Given the description of an element on the screen output the (x, y) to click on. 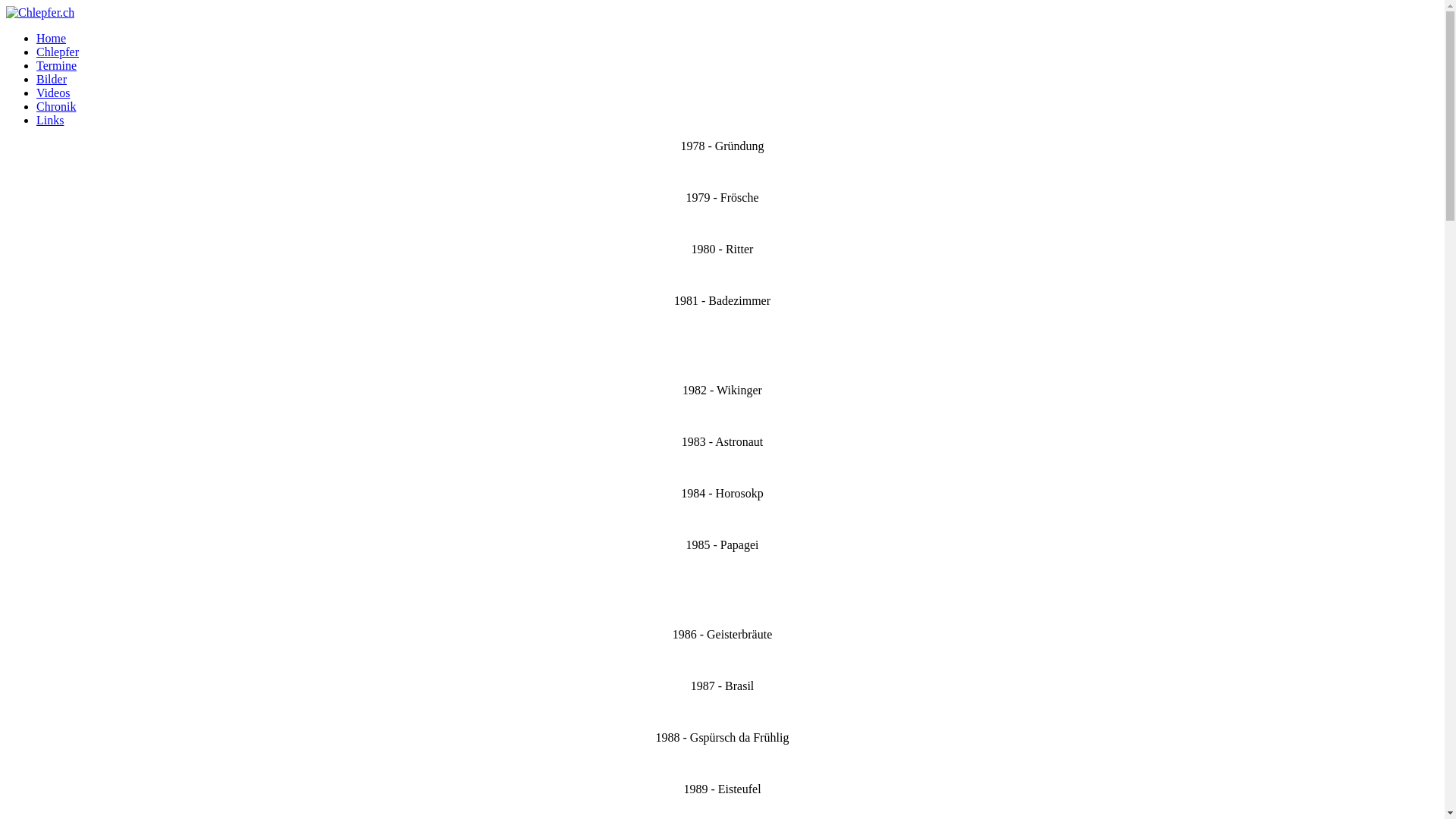
Bilder Element type: text (51, 78)
Chronik Element type: text (55, 106)
Termine Element type: text (56, 65)
Home Element type: text (50, 37)
Chlepfer Element type: text (57, 51)
Videos Element type: text (52, 92)
Links Element type: text (49, 119)
